Given the description of an element on the screen output the (x, y) to click on. 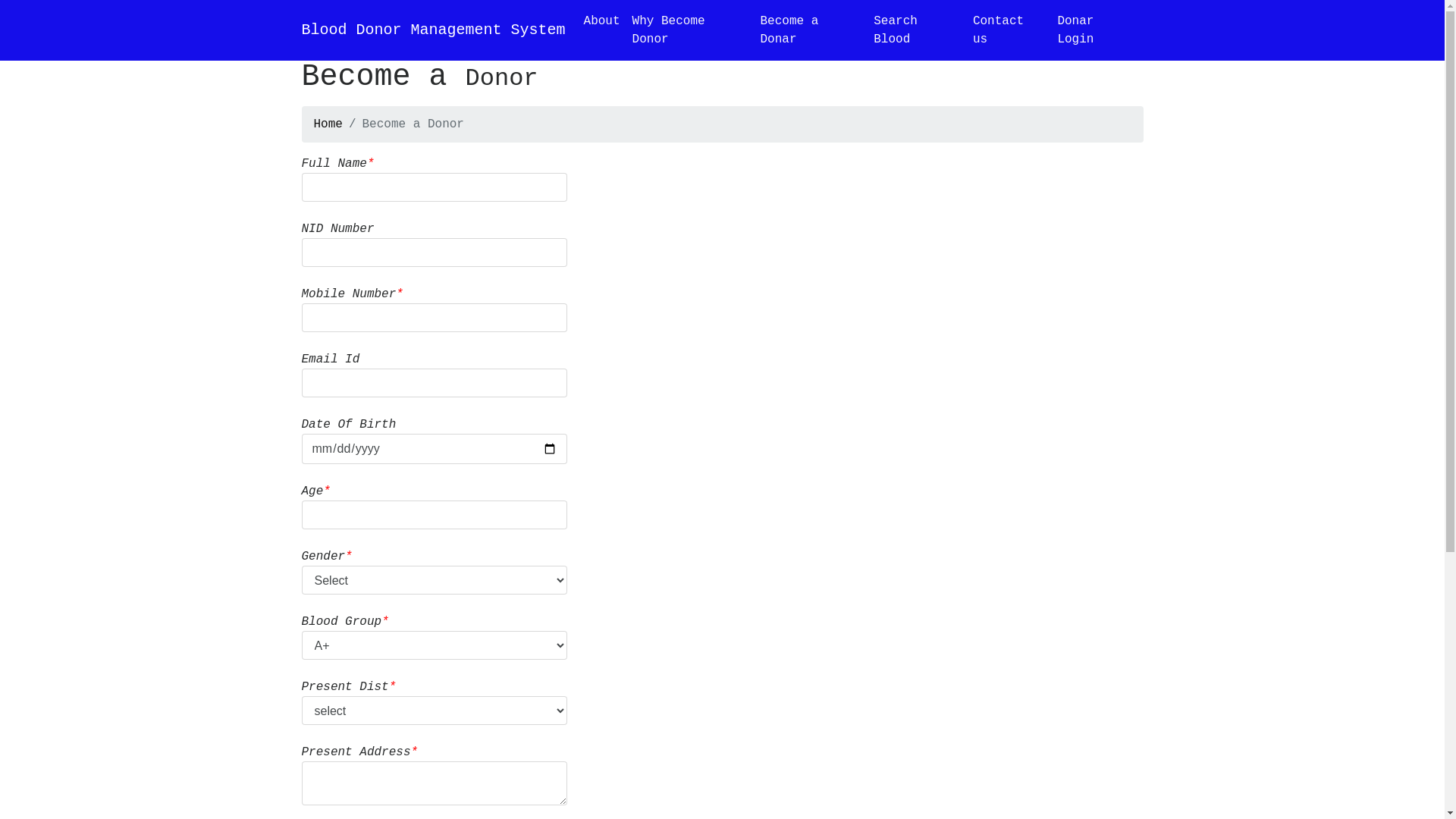
Why Become Donor Element type: text (690, 30)
Contact us Element type: text (1008, 30)
About Element type: text (601, 21)
Blood Donor Management System Element type: text (433, 29)
Donar Login Element type: text (1096, 30)
Become a Donar Element type: text (810, 30)
Home Element type: text (327, 124)
Search Blood Element type: text (916, 30)
